Given the description of an element on the screen output the (x, y) to click on. 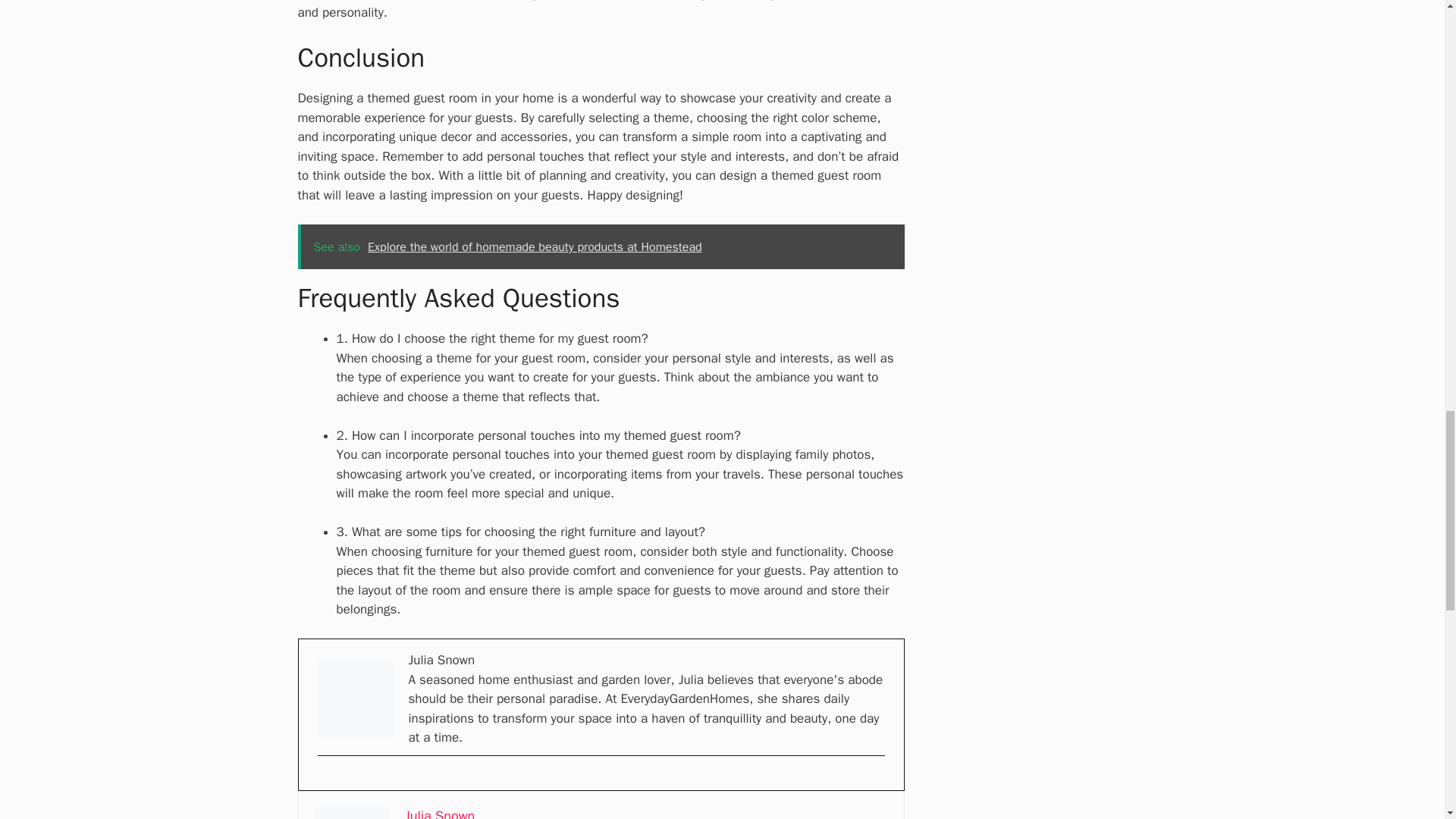
Julia Snown (440, 813)
